Given the description of an element on the screen output the (x, y) to click on. 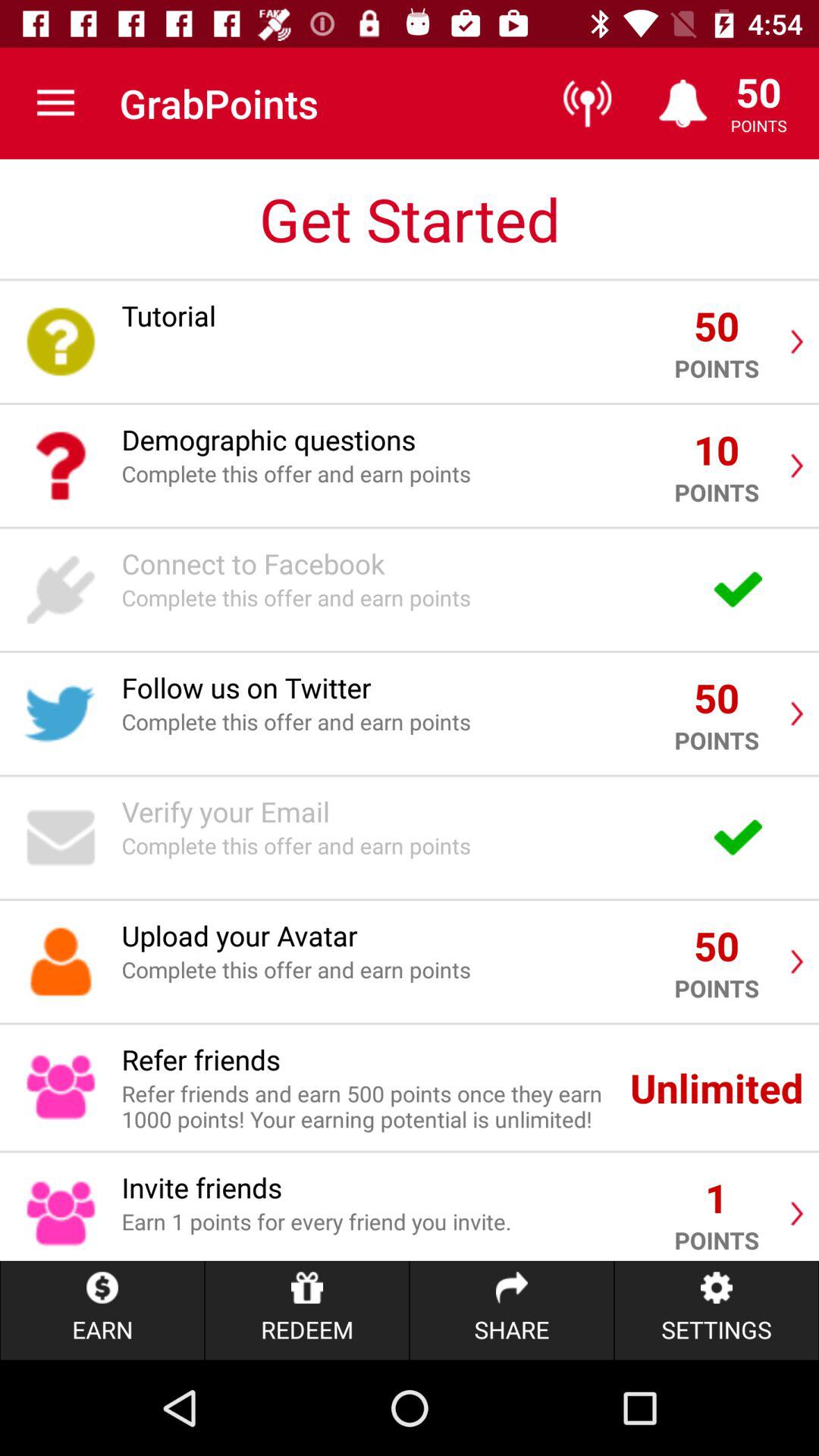
tap the share icon (511, 1310)
